Given the description of an element on the screen output the (x, y) to click on. 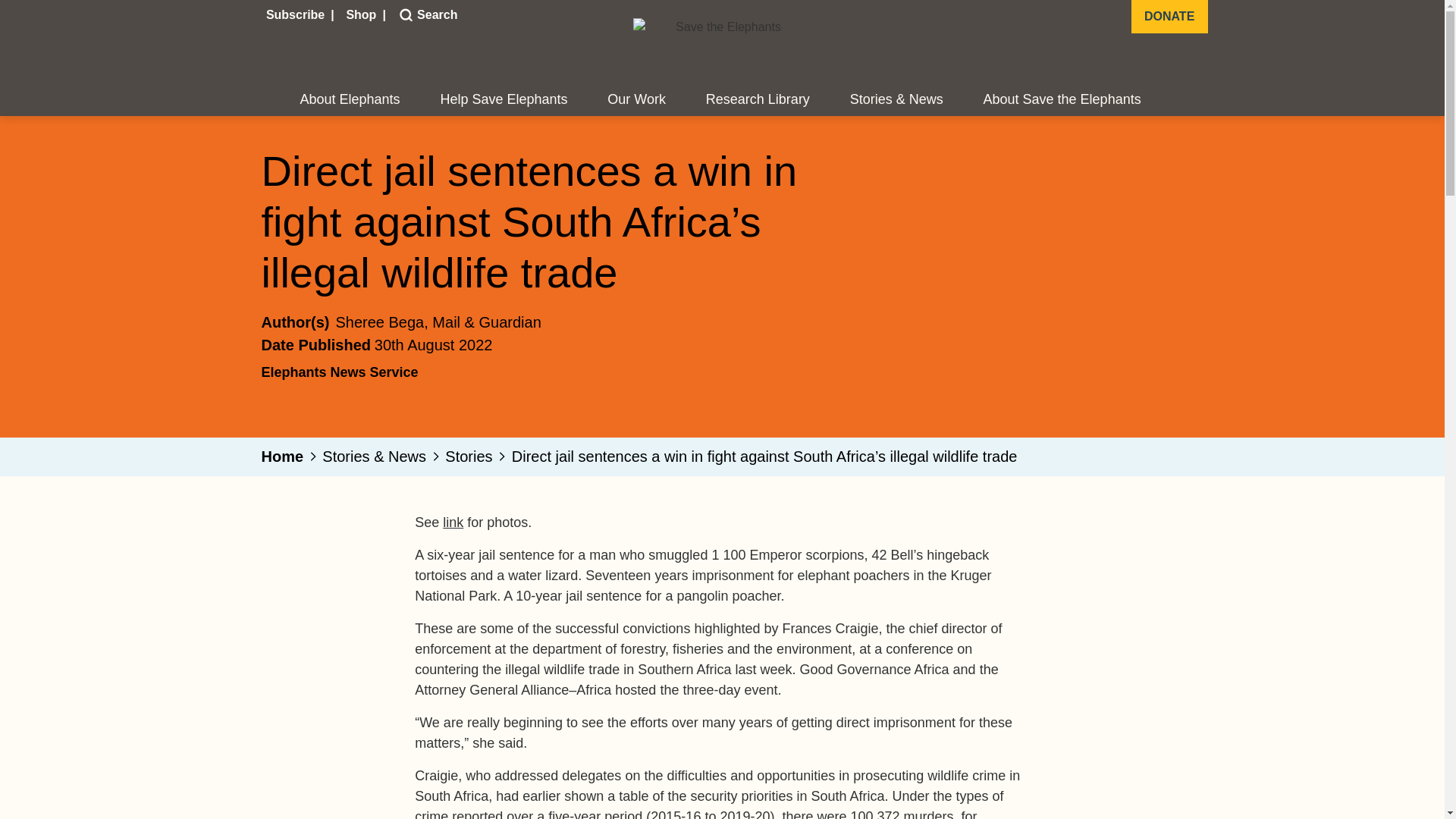
Help Save Elephants (503, 99)
Subscribe (297, 15)
Our Work (636, 99)
Shop (362, 15)
DONATE (1169, 16)
About Elephants (349, 99)
About Save the Elephants (1062, 99)
Search submit (403, 15)
Research Library (757, 99)
Save the Elephants (720, 47)
